Given the description of an element on the screen output the (x, y) to click on. 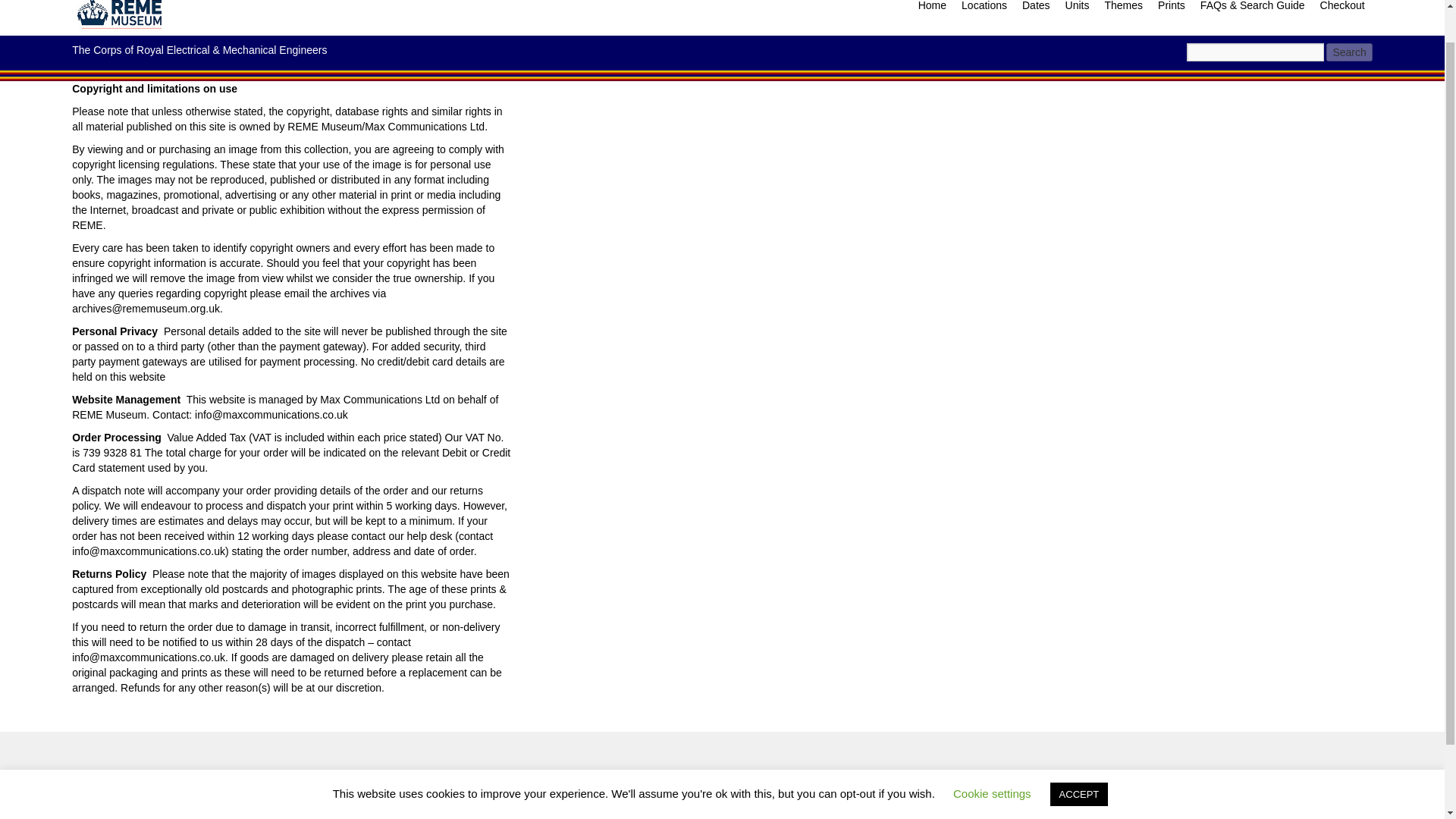
Home (932, 12)
Checkout (1343, 12)
Locations (983, 12)
Dates (1036, 12)
Units (1077, 12)
Themes (1123, 12)
Units (1077, 12)
Max Communications Ltd (191, 810)
Themes (1123, 12)
Search (1348, 52)
Prints (1171, 12)
Dates (1036, 12)
Search (1348, 52)
Checkout (1343, 12)
Cookie settings (991, 757)
